Given the description of an element on the screen output the (x, y) to click on. 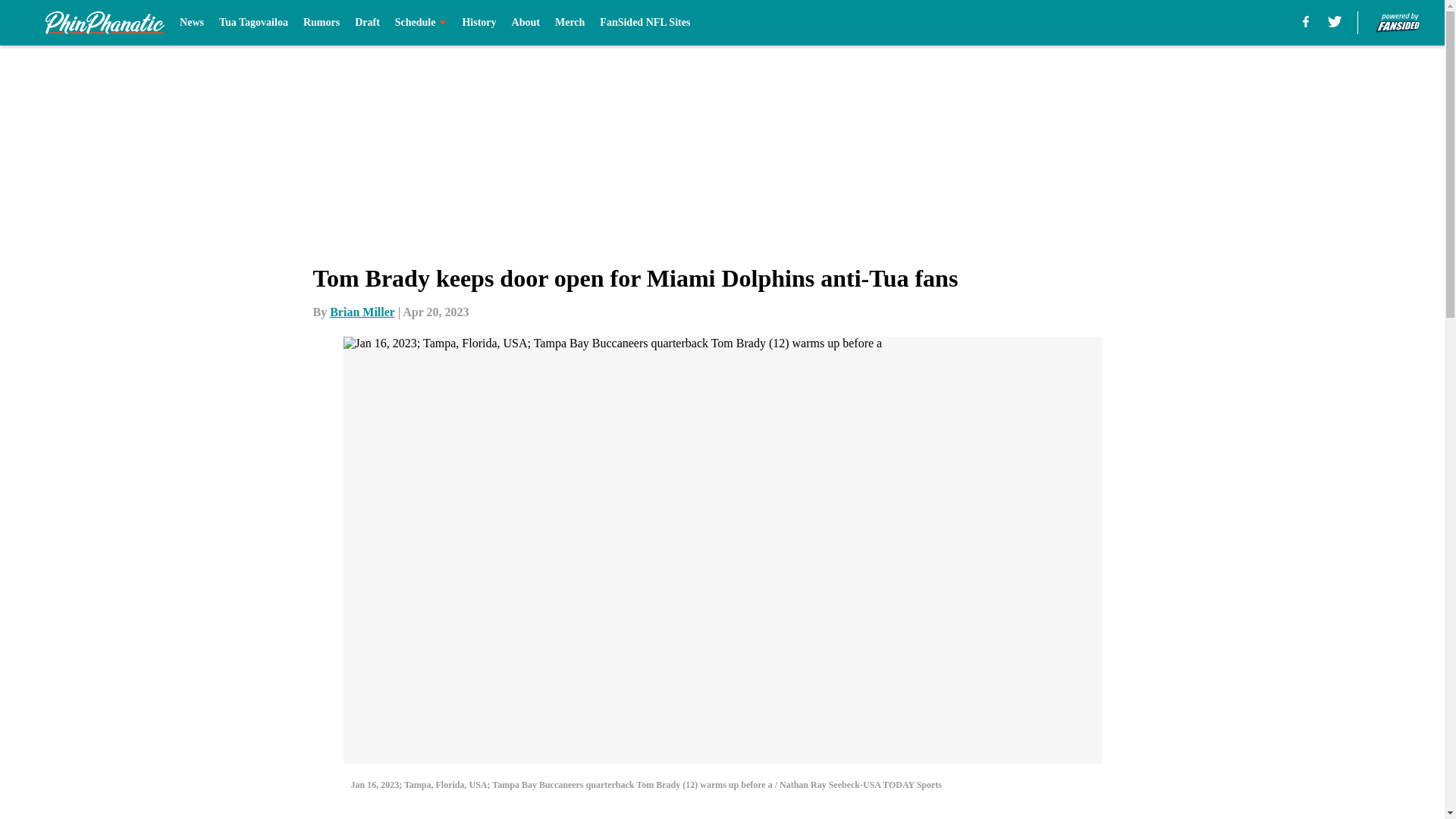
Brian Miller (362, 311)
Draft (367, 22)
News (191, 22)
About (526, 22)
Merch (569, 22)
Tua Tagovailoa (253, 22)
FanSided NFL Sites (644, 22)
Rumors (320, 22)
History (478, 22)
